Given the description of an element on the screen output the (x, y) to click on. 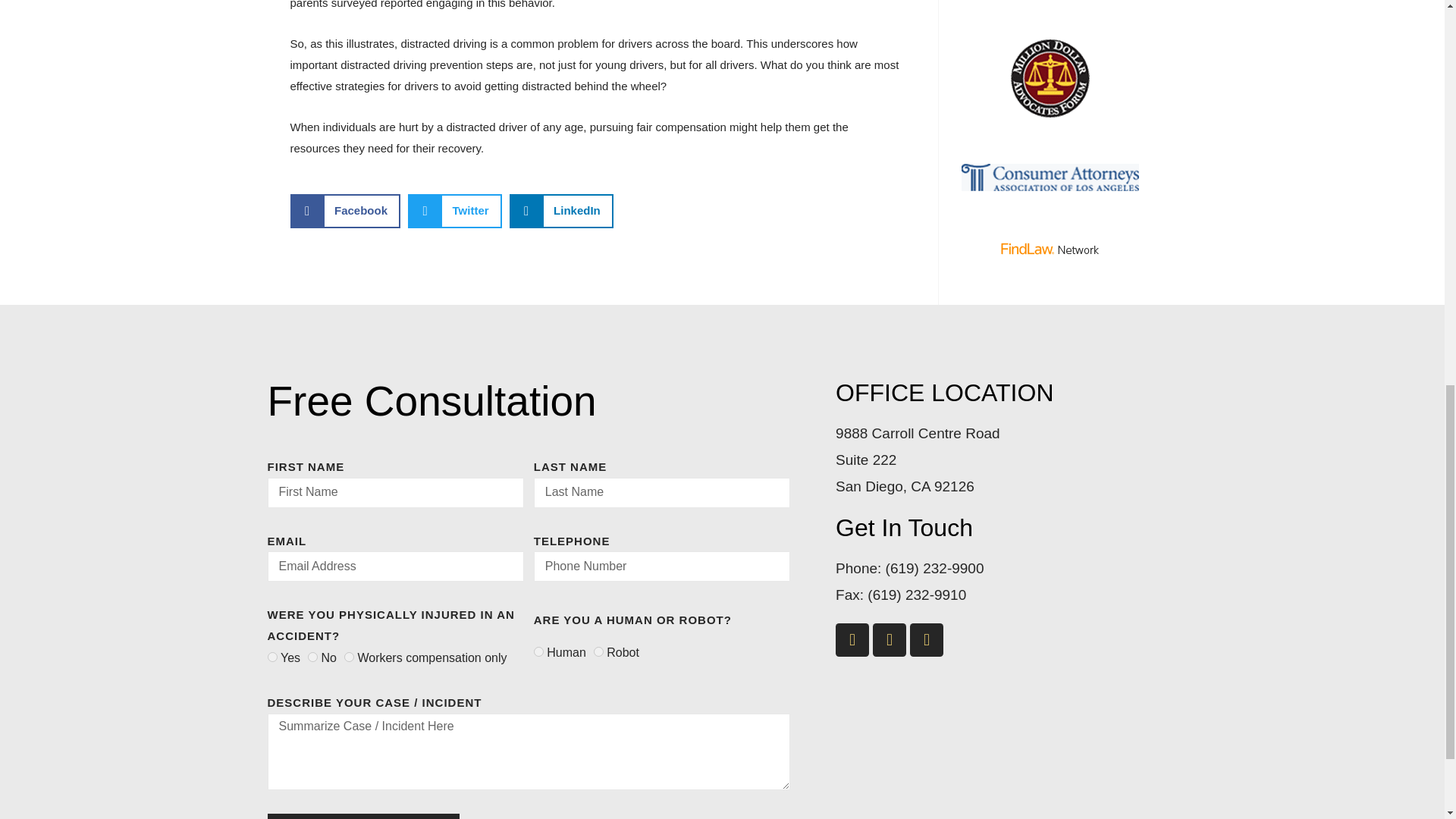
Human (538, 651)
No (312, 656)
Yes (271, 656)
Workers compensation only (348, 656)
Robot (599, 651)
